Given the description of an element on the screen output the (x, y) to click on. 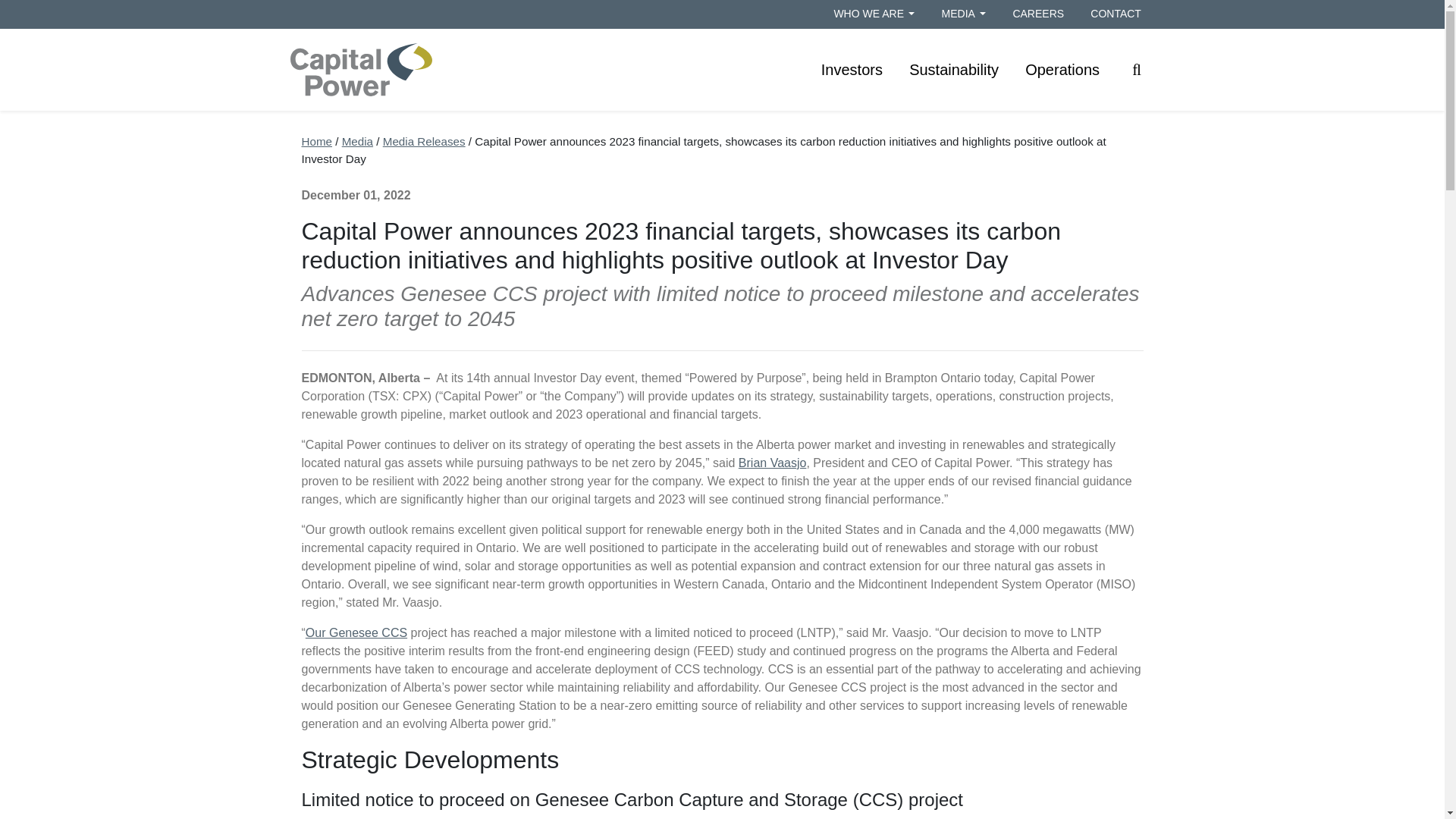
Careers (1037, 14)
WHO WE ARE (874, 13)
Operations (1062, 69)
Who We Are (874, 13)
search (1136, 69)
CONTACT (1115, 14)
Contact (1115, 14)
CAREERS (1037, 14)
MEDIA (963, 13)
Investors (851, 69)
Media (963, 13)
Sustainability (953, 69)
